Given the description of an element on the screen output the (x, y) to click on. 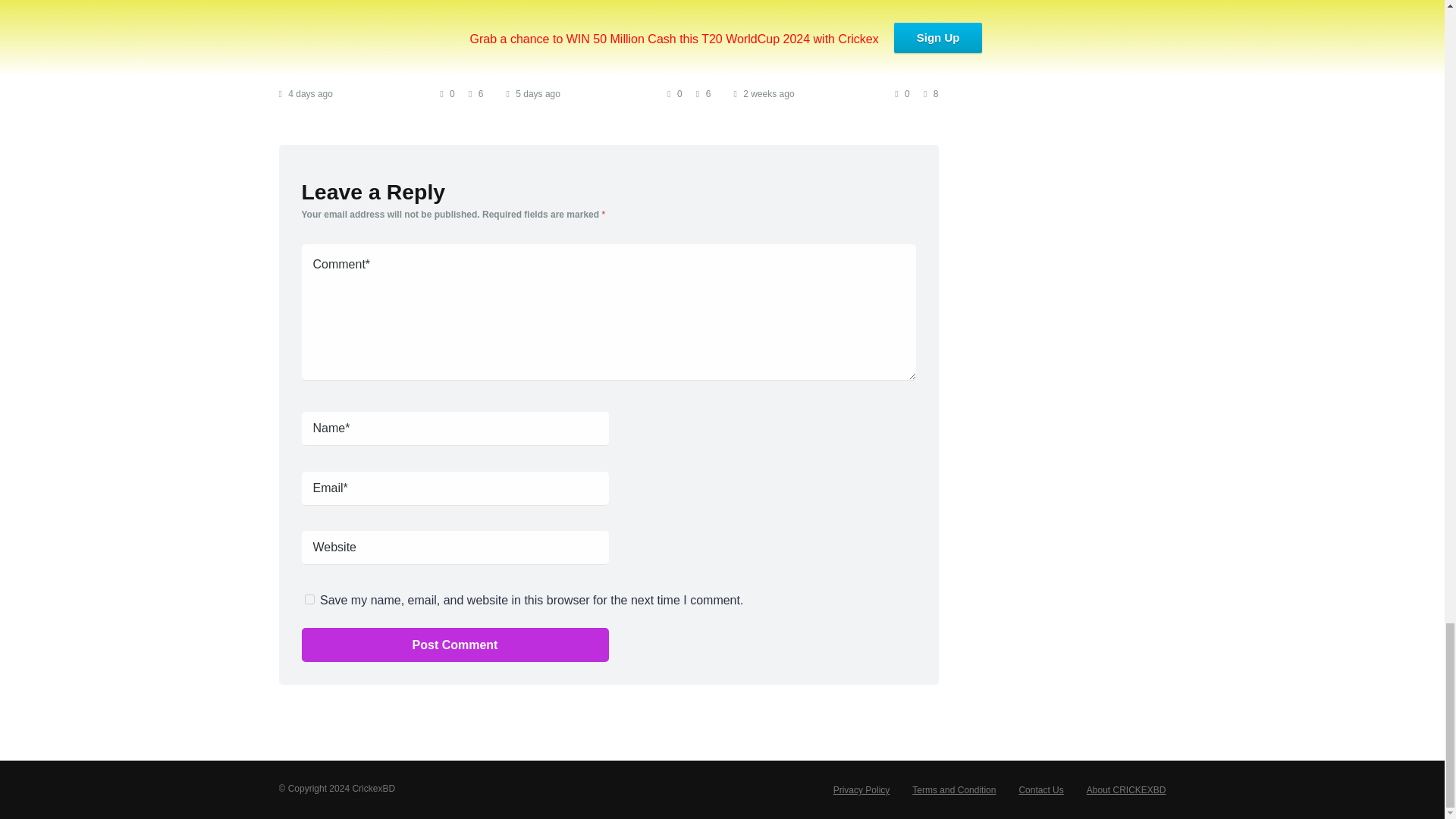
IPL 2025 Mega Auction: 3 IPL Captains Who Could Be Released (602, 45)
Post Comment (454, 644)
Get To Know The 6 Unbreakable Indian Cricket Records (353, 45)
Ravindra Jadeja Tribute To His Late Mother Lata Jadeja (824, 45)
yes (309, 599)
